Given the description of an element on the screen output the (x, y) to click on. 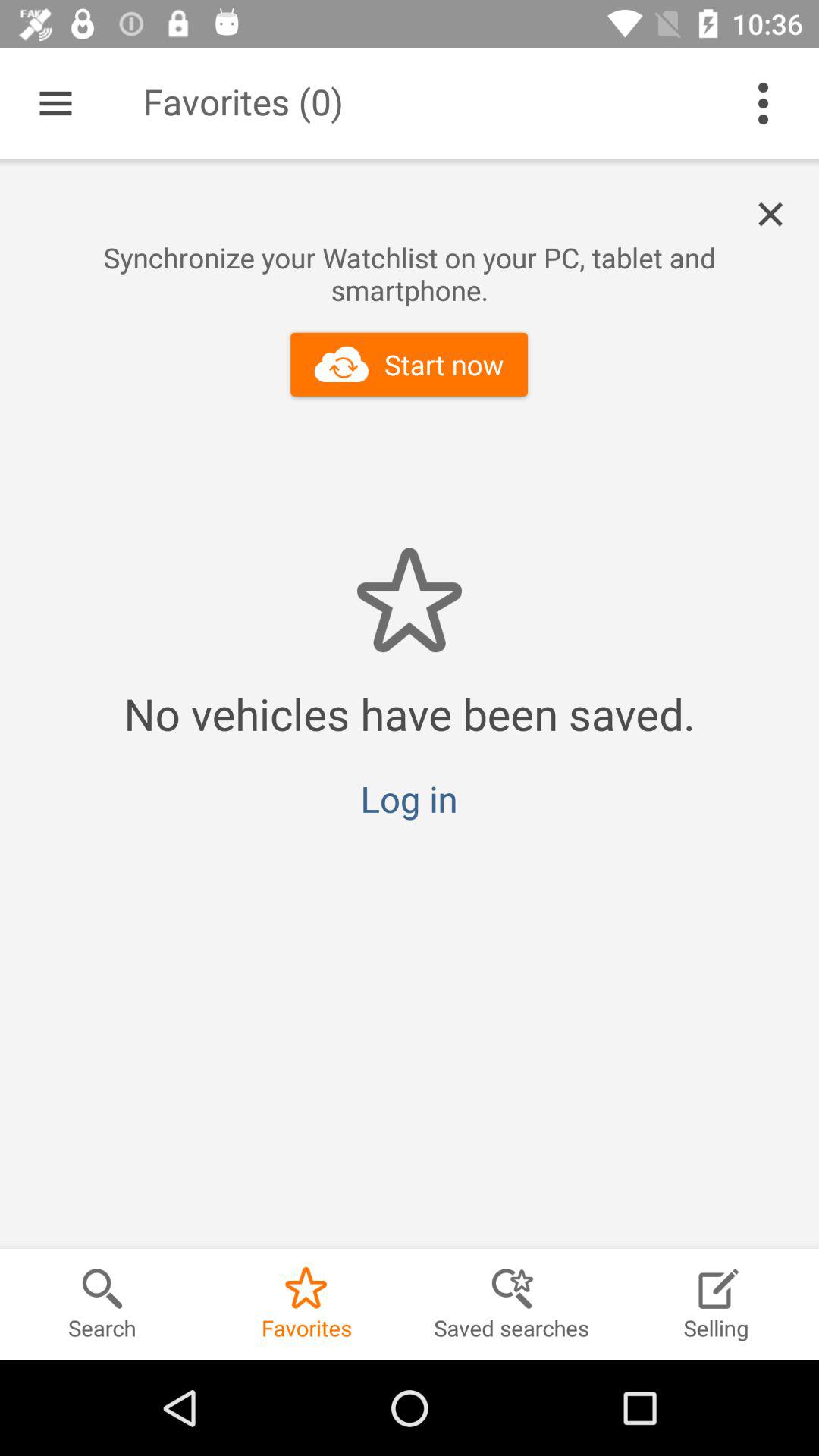
turn on the item next to favorites (0) (55, 103)
